Given the description of an element on the screen output the (x, y) to click on. 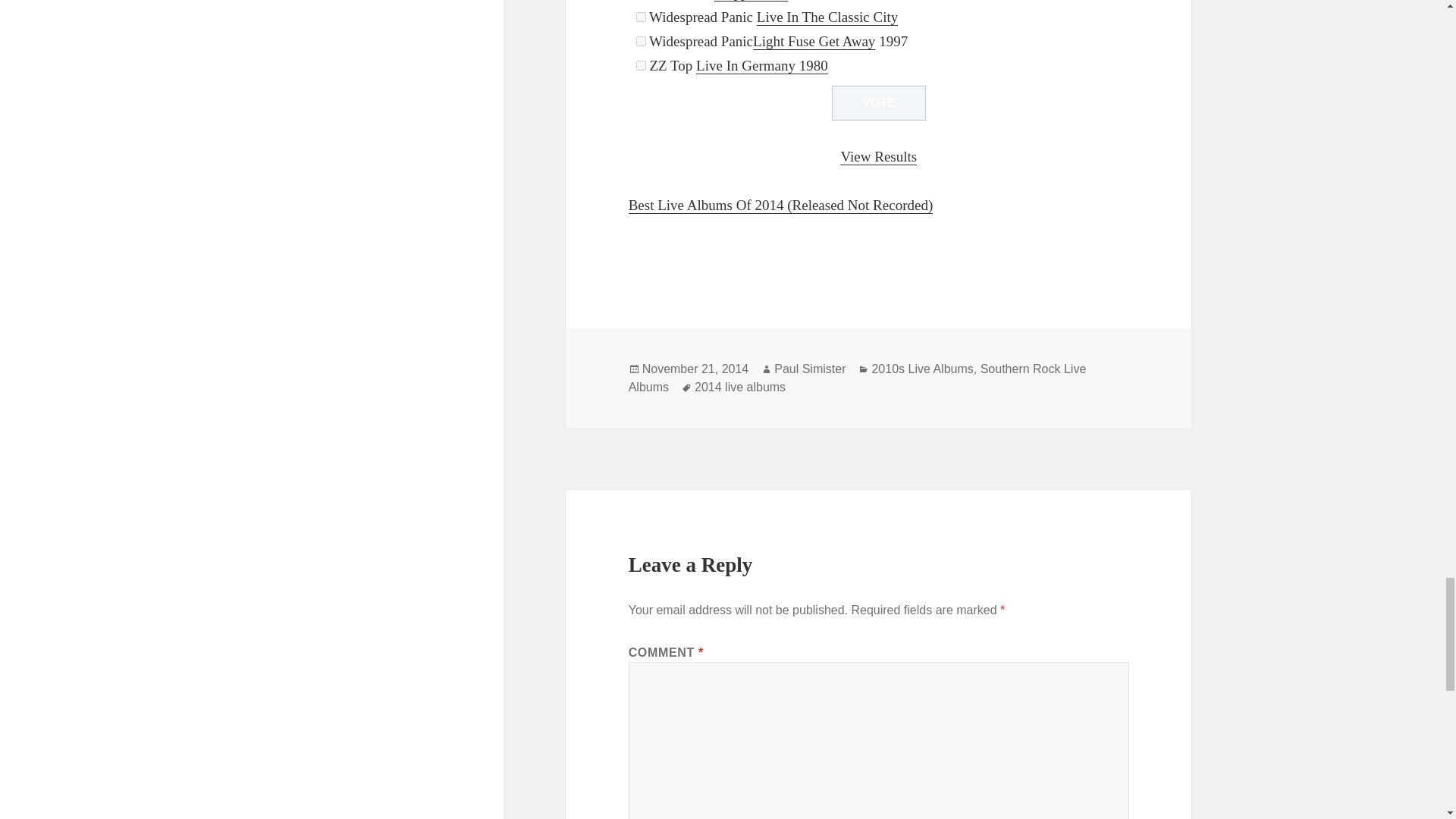
View Results Of This Poll (878, 156)
